Given the description of an element on the screen output the (x, y) to click on. 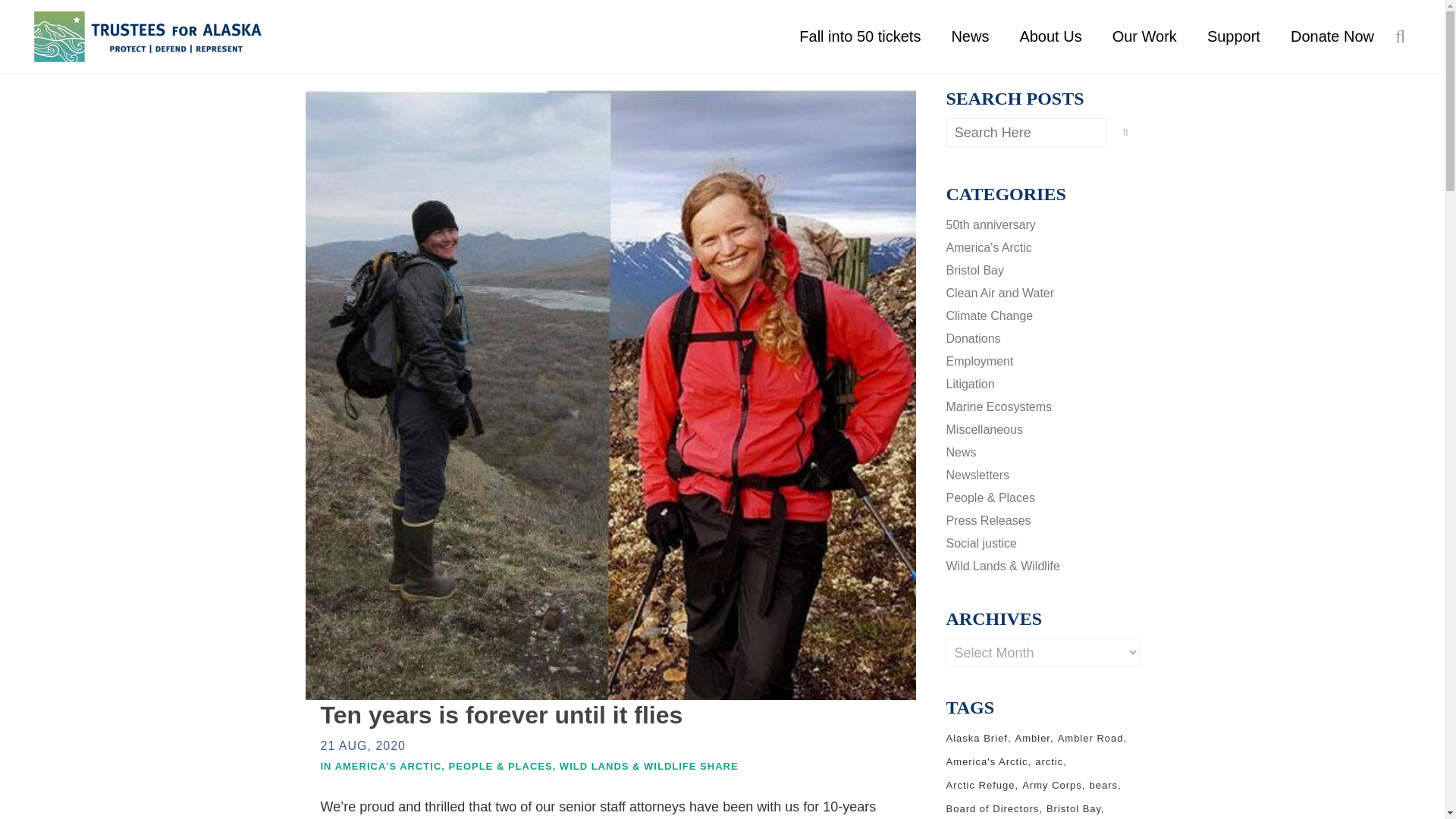
Fall into 50 tickets (860, 36)
Our Work (1144, 36)
Donate Now (1332, 36)
Support (1233, 36)
News (970, 36)
About Us (1050, 36)
